Given the description of an element on the screen output the (x, y) to click on. 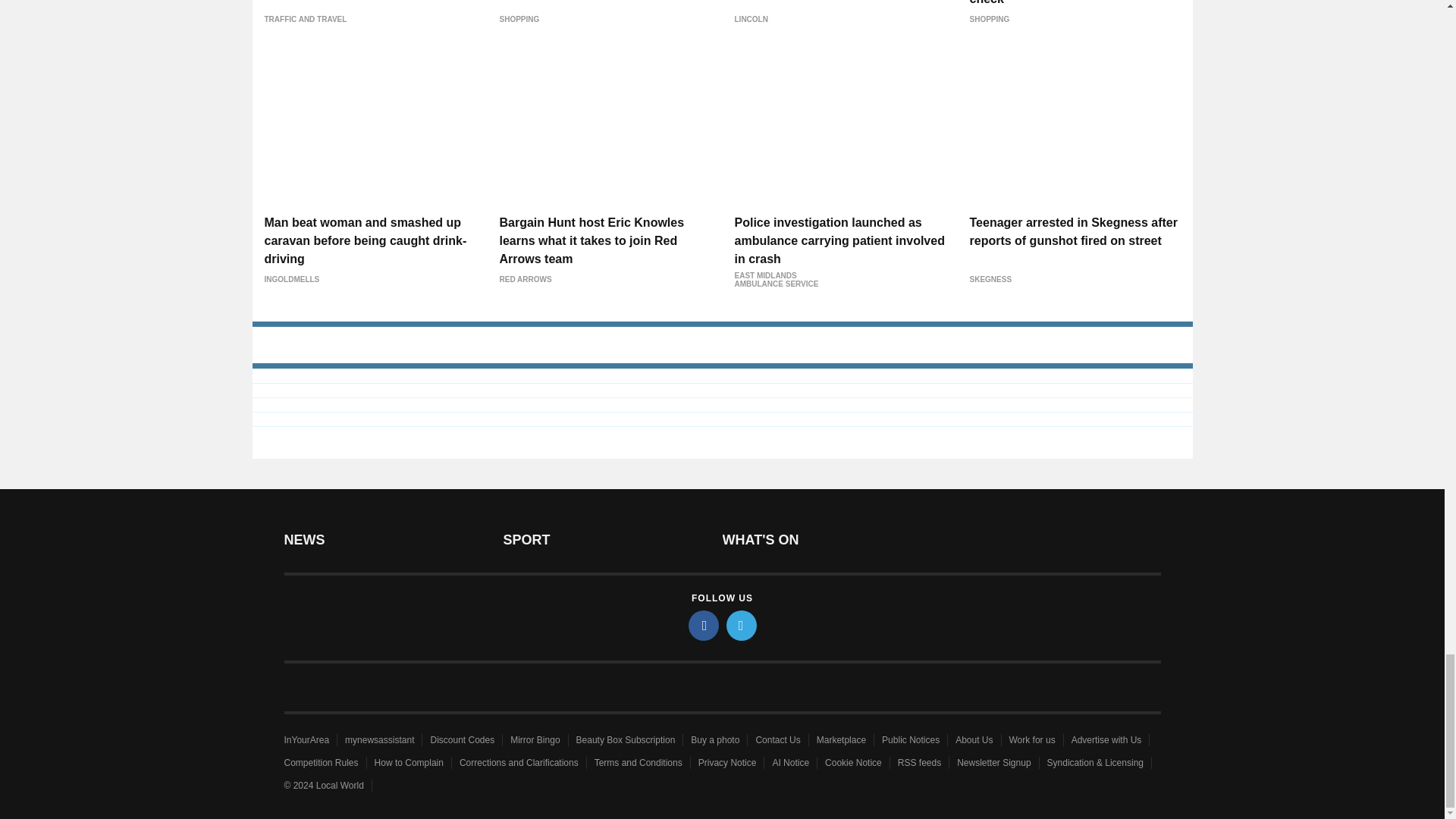
twitter (741, 625)
facebook (703, 625)
